Given the description of an element on the screen output the (x, y) to click on. 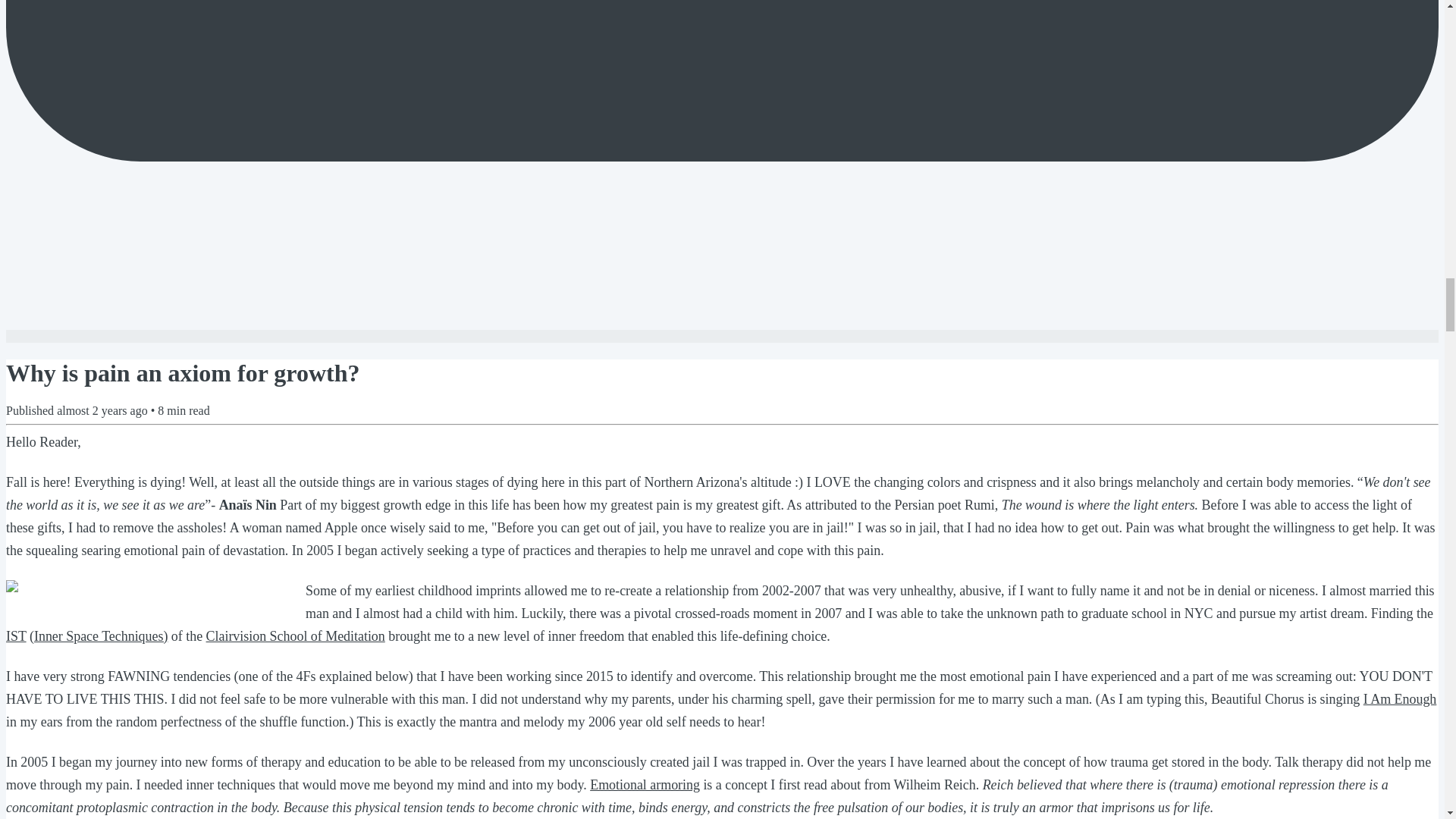
Clairvision School of Meditation (295, 635)
Emotional armoring (644, 784)
IST (15, 635)
